Given the description of an element on the screen output the (x, y) to click on. 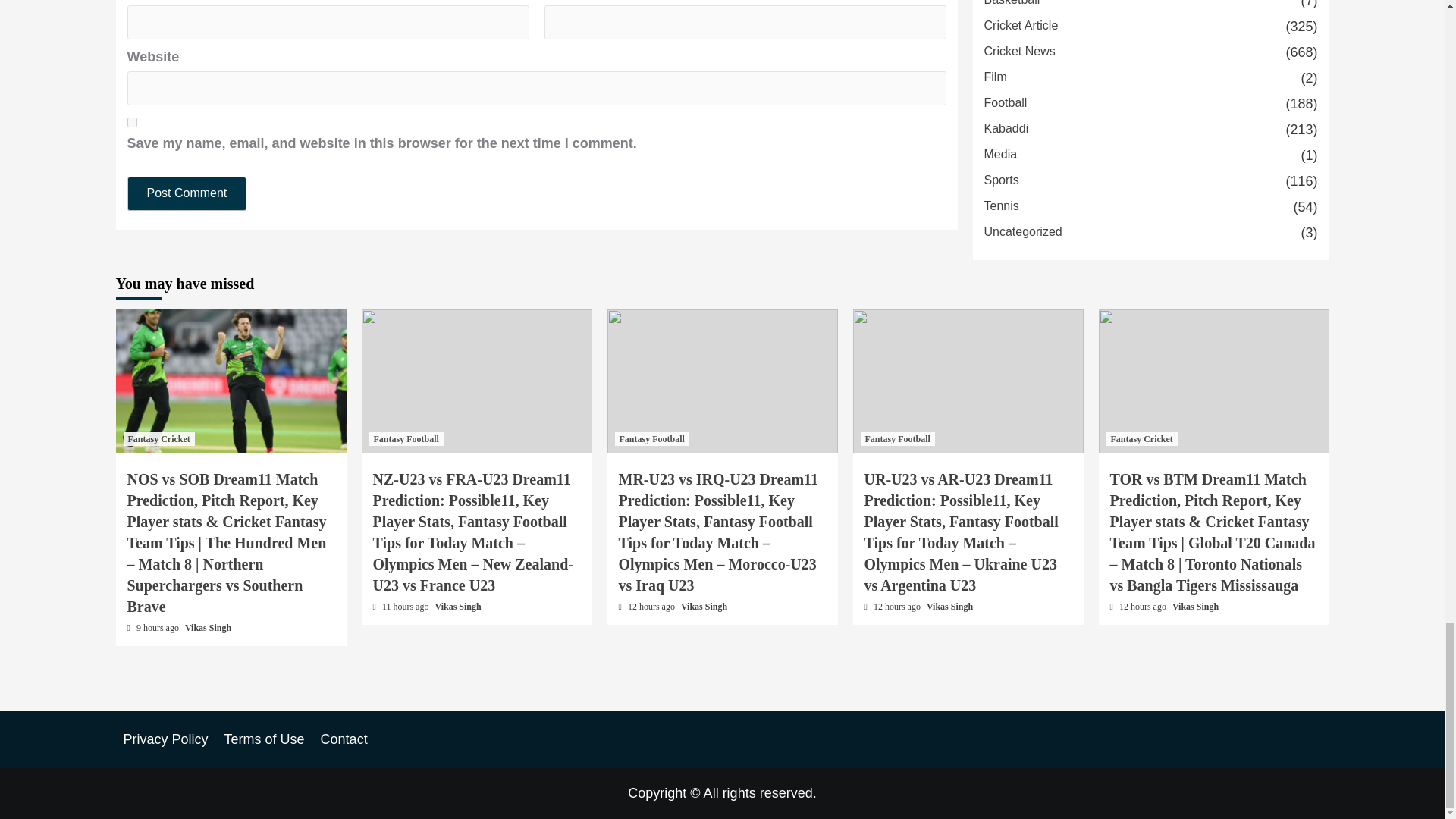
Post Comment (187, 193)
yes (132, 122)
